Given the description of an element on the screen output the (x, y) to click on. 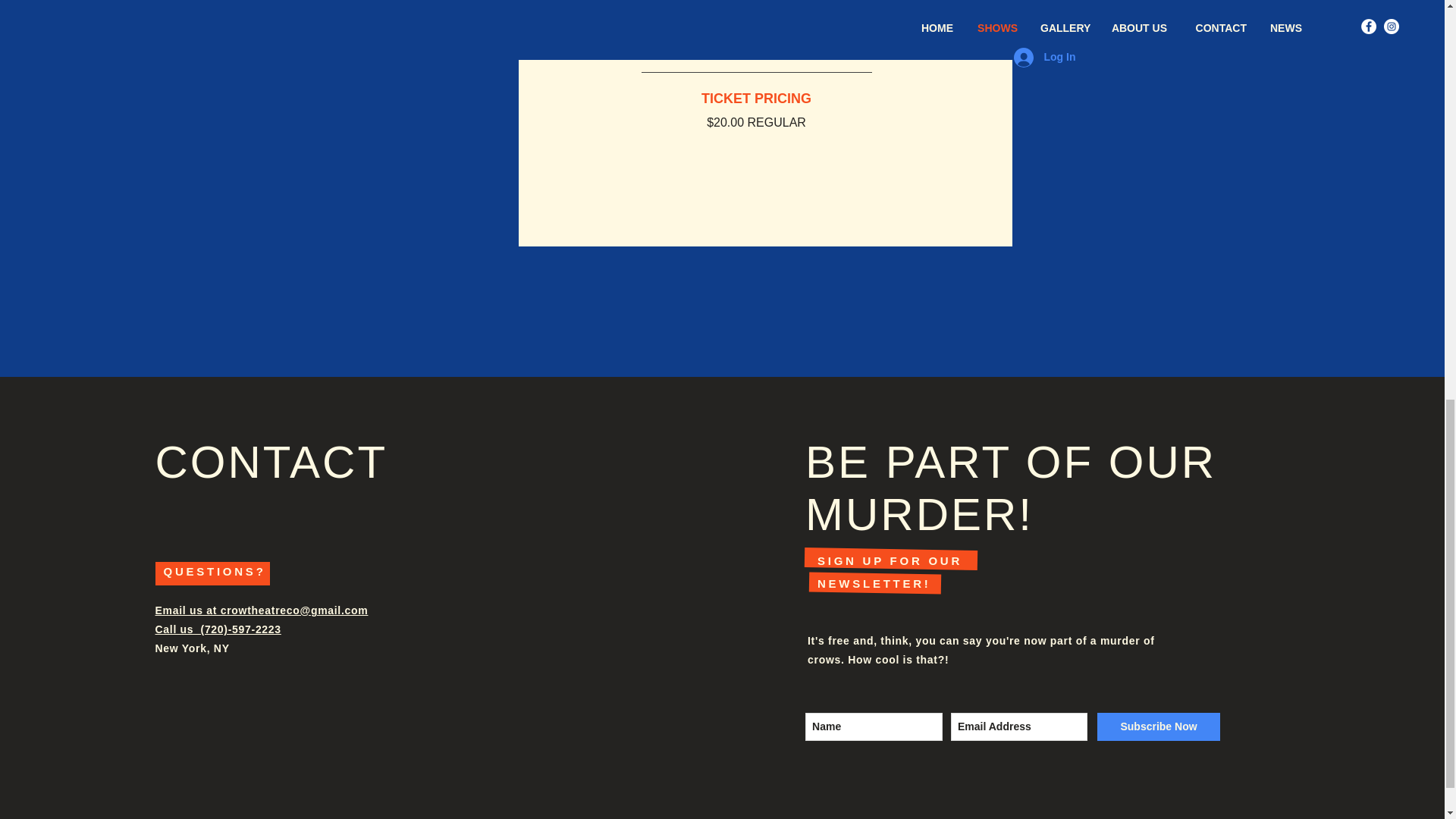
Subscribe Now (1158, 726)
Buy Tickets! (755, 32)
